Given the description of an element on the screen output the (x, y) to click on. 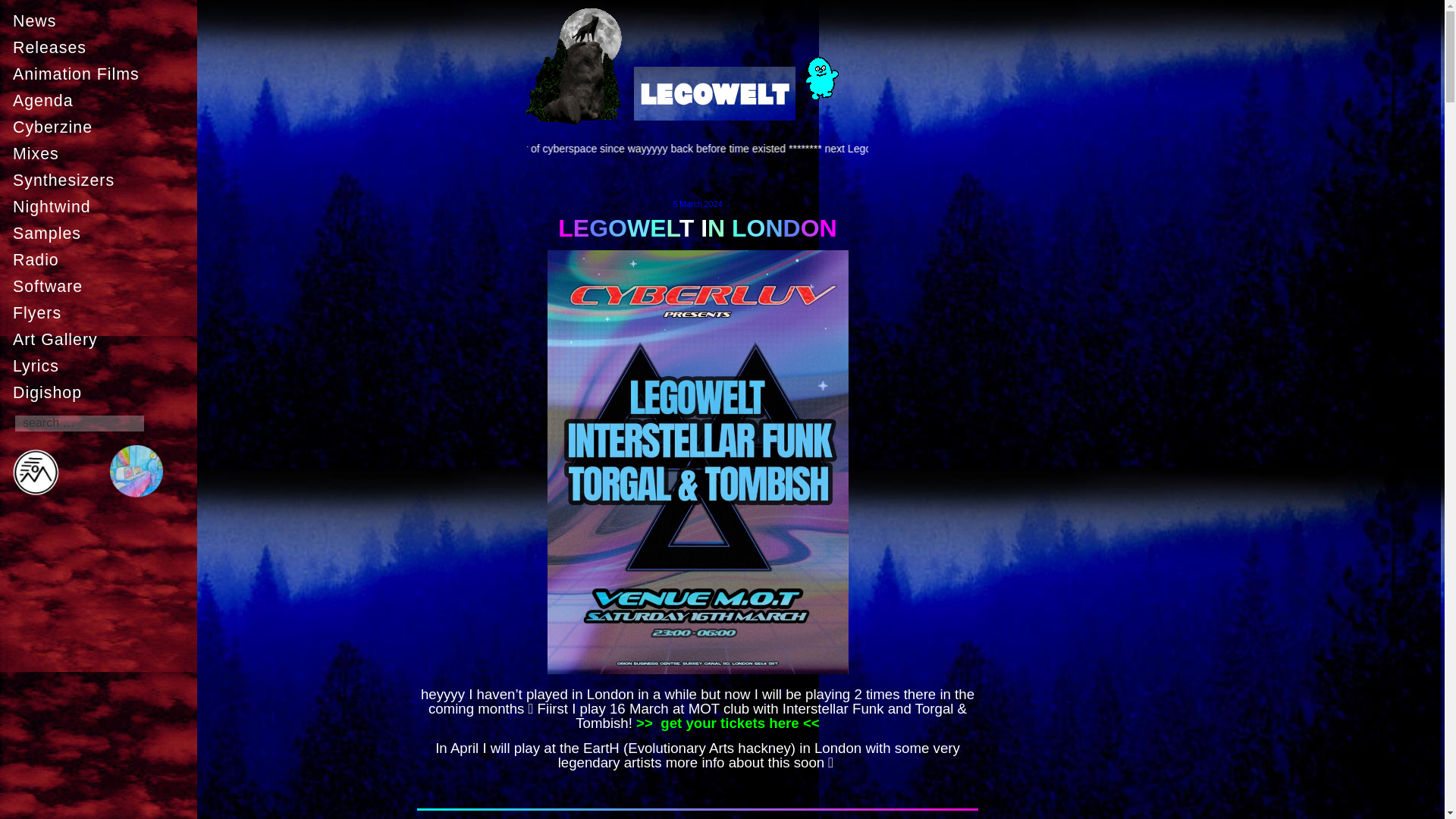
Software (102, 286)
Lyrics (102, 366)
Art Gallery (102, 339)
Flyers (102, 313)
Search (21, 6)
News (102, 20)
Search for: (79, 423)
Animation Films (102, 73)
Cyberzine (102, 127)
Agenda (102, 100)
